Given the description of an element on the screen output the (x, y) to click on. 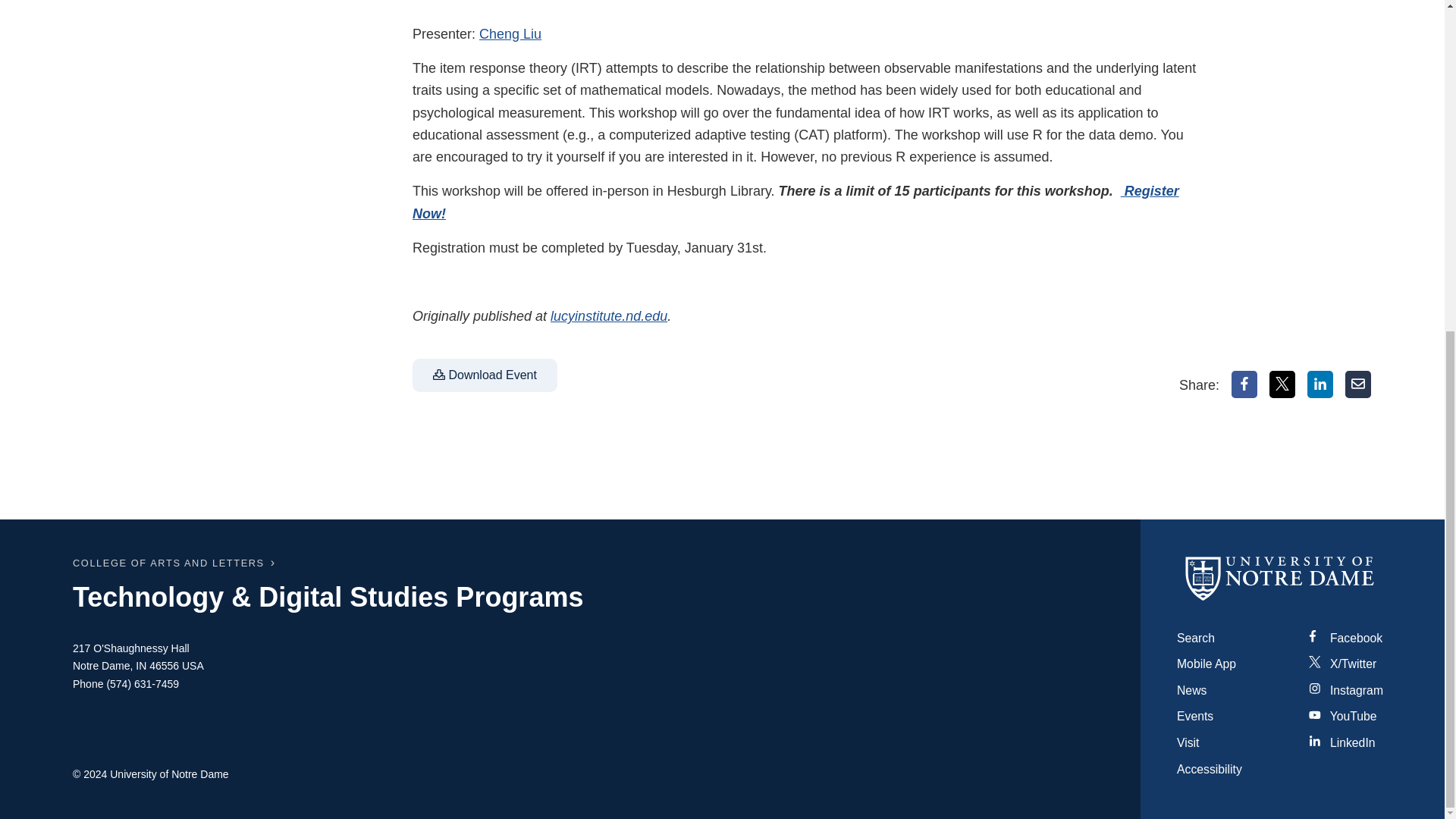
LinkedIn (1320, 384)
 Register Now! (795, 201)
Download Event (484, 375)
Cheng Liu (510, 33)
Email (1358, 384)
lucyinstitute.nd.edu (608, 315)
Facebook (1244, 384)
